Given the description of an element on the screen output the (x, y) to click on. 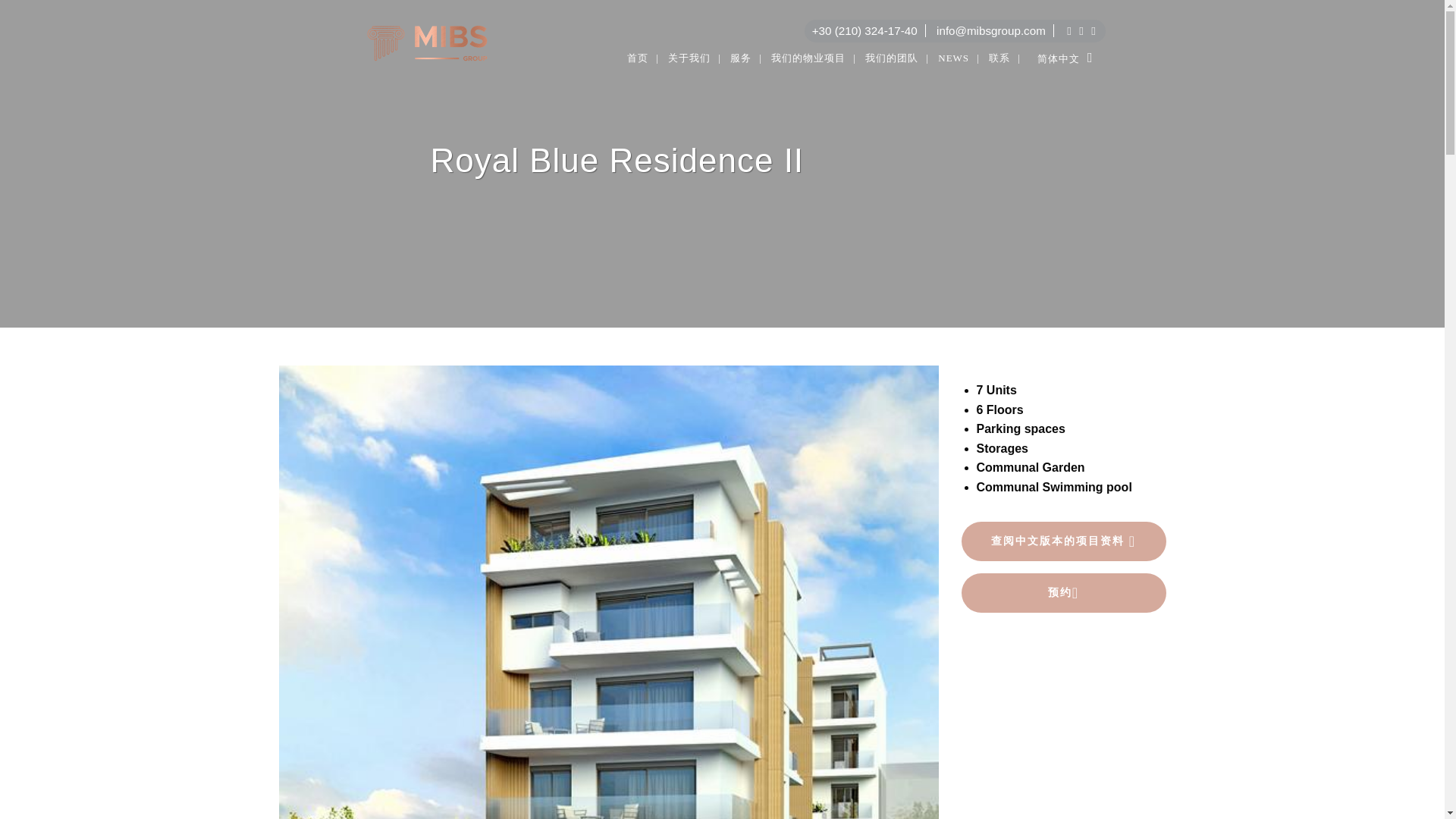
NEWS (958, 57)
